Given the description of an element on the screen output the (x, y) to click on. 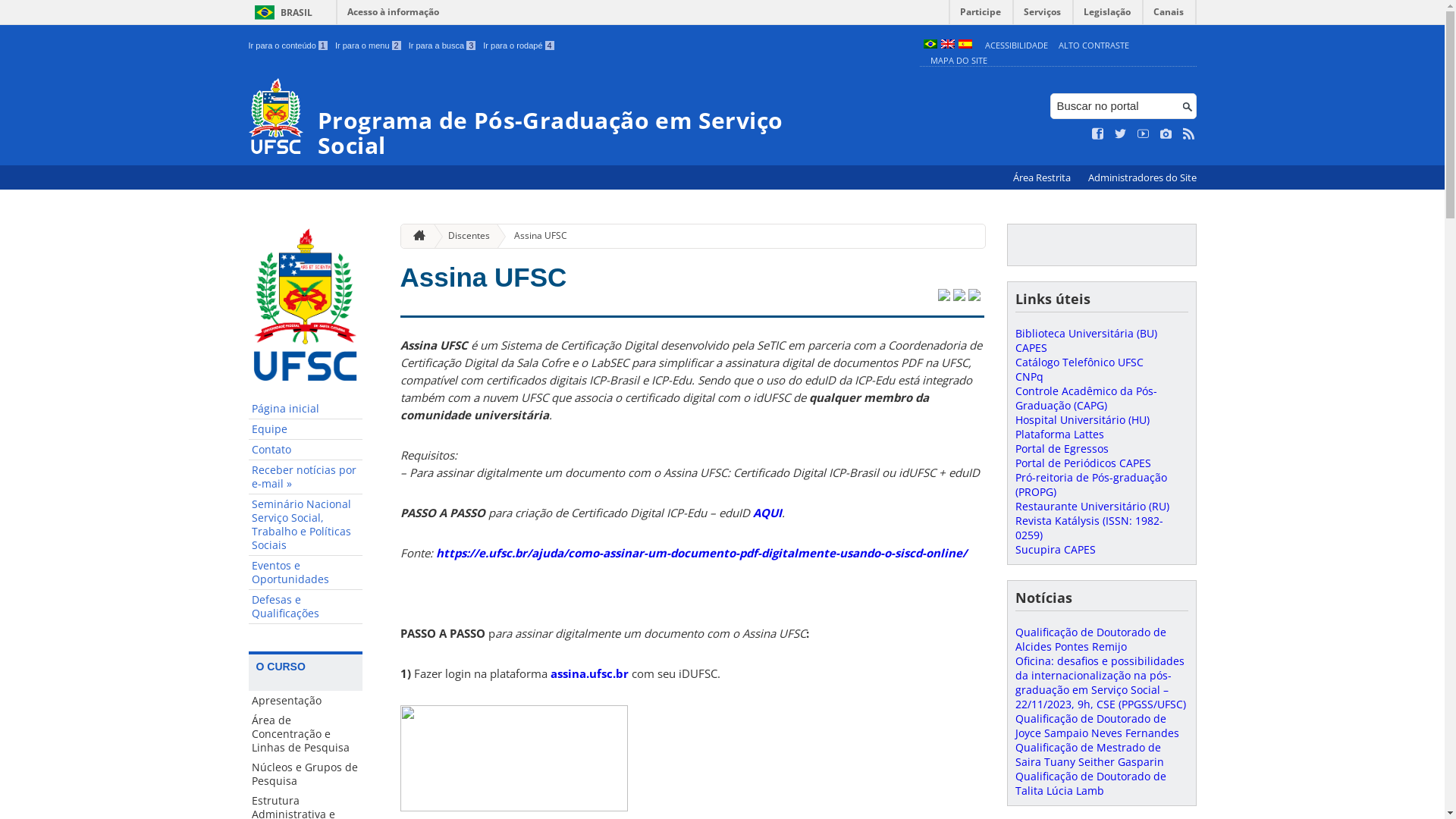
English (en) Element type: hover (946, 44)
Equipe Element type: text (305, 429)
CNPq Element type: text (1028, 376)
CAPES Element type: text (1030, 347)
Contato Element type: text (305, 449)
AQUI Element type: text (766, 512)
Assina UFSC Element type: text (534, 235)
Compartilhar no Twitter Element type: hover (943, 296)
Ir para a busca 3 Element type: text (442, 45)
Sucupira CAPES Element type: text (1054, 549)
MAPA DO SITE Element type: text (957, 59)
Plataforma Lattes Element type: text (1058, 433)
assina.ufsc.br Element type: text (589, 672)
ALTO CONTRASTE Element type: text (1093, 44)
Assina UFSC Element type: text (483, 276)
Participe Element type: text (980, 15)
Discentes Element type: text (462, 235)
BRASIL Element type: text (280, 12)
Compartilhar no Facebook Element type: hover (958, 296)
Portal de Egressos Element type: text (1060, 448)
Administradores do Site Element type: text (1141, 177)
Curta no Facebook Element type: hover (1098, 134)
Veja no Instagram Element type: hover (1166, 134)
Ir para o menu 2 Element type: text (368, 45)
Compartilhar no WhatsApp Element type: hover (973, 296)
ACESSIBILIDADE Element type: text (1016, 44)
Eventos e Oportunidades Element type: text (305, 572)
Siga no Twitter Element type: hover (1120, 134)
Canais Element type: text (1169, 15)
